Given the description of an element on the screen output the (x, y) to click on. 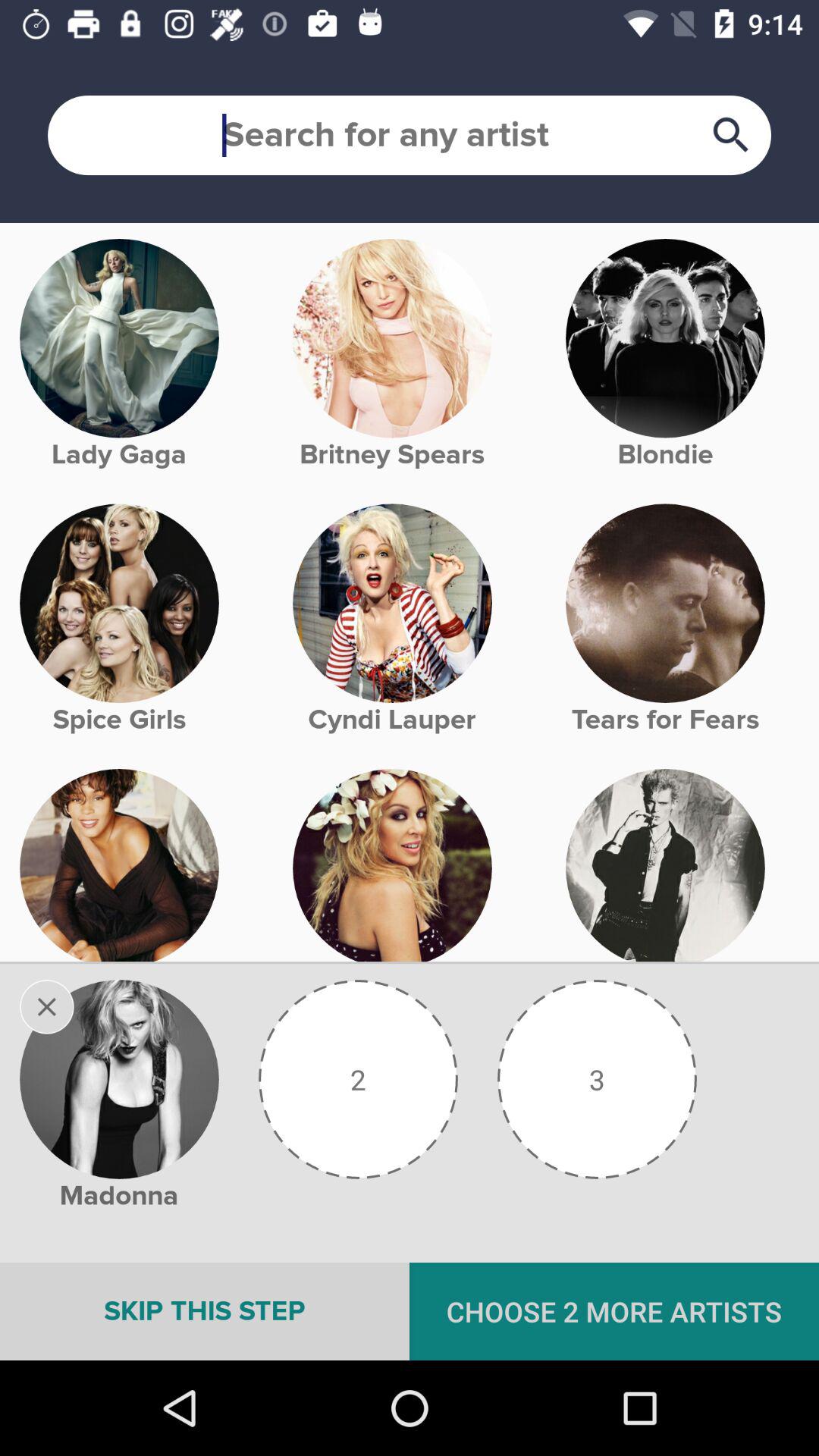
launch skip this step item (204, 1311)
